Given the description of an element on the screen output the (x, y) to click on. 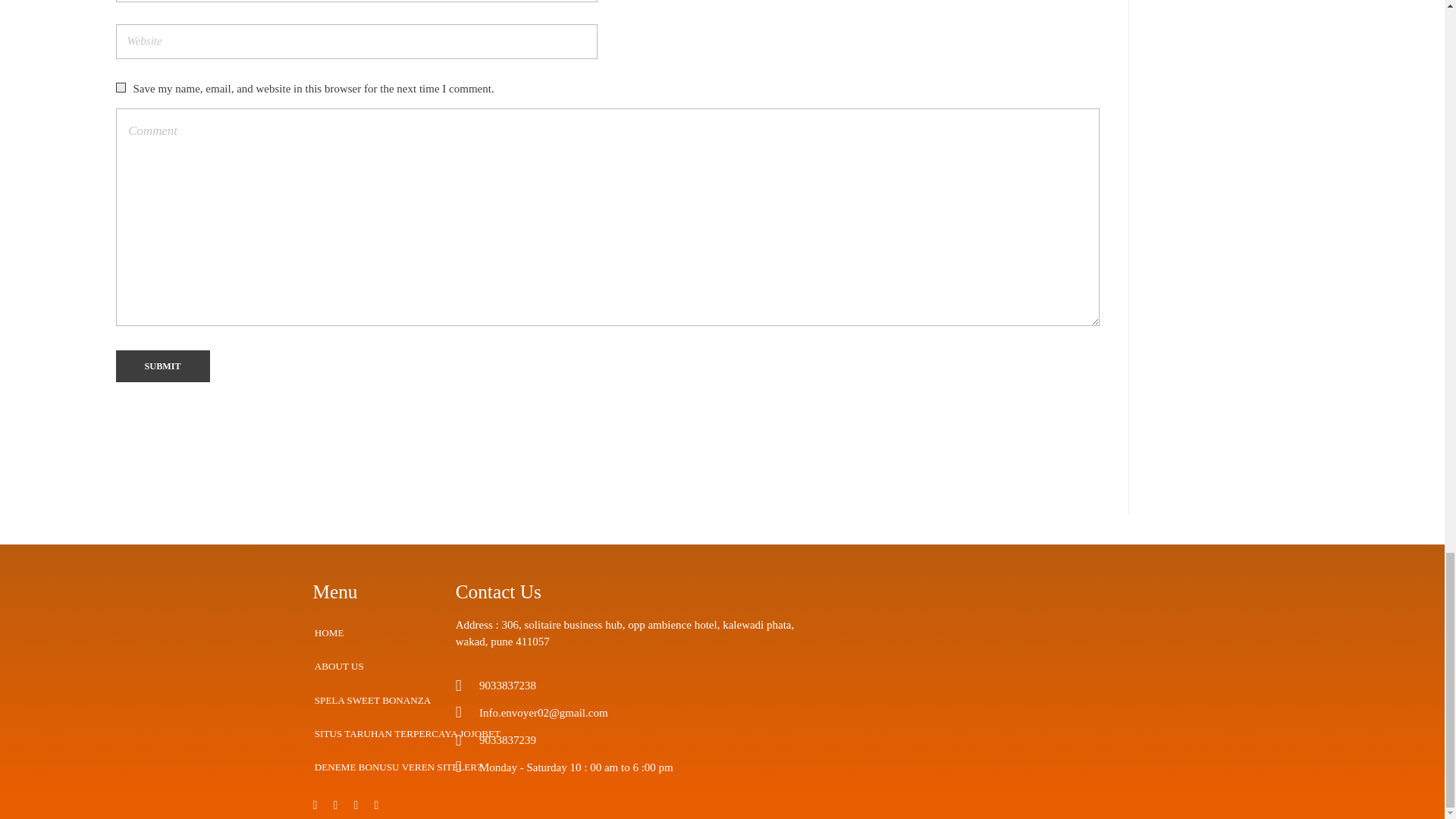
Submit (162, 366)
yes (120, 87)
Submit (162, 366)
